Given the description of an element on the screen output the (x, y) to click on. 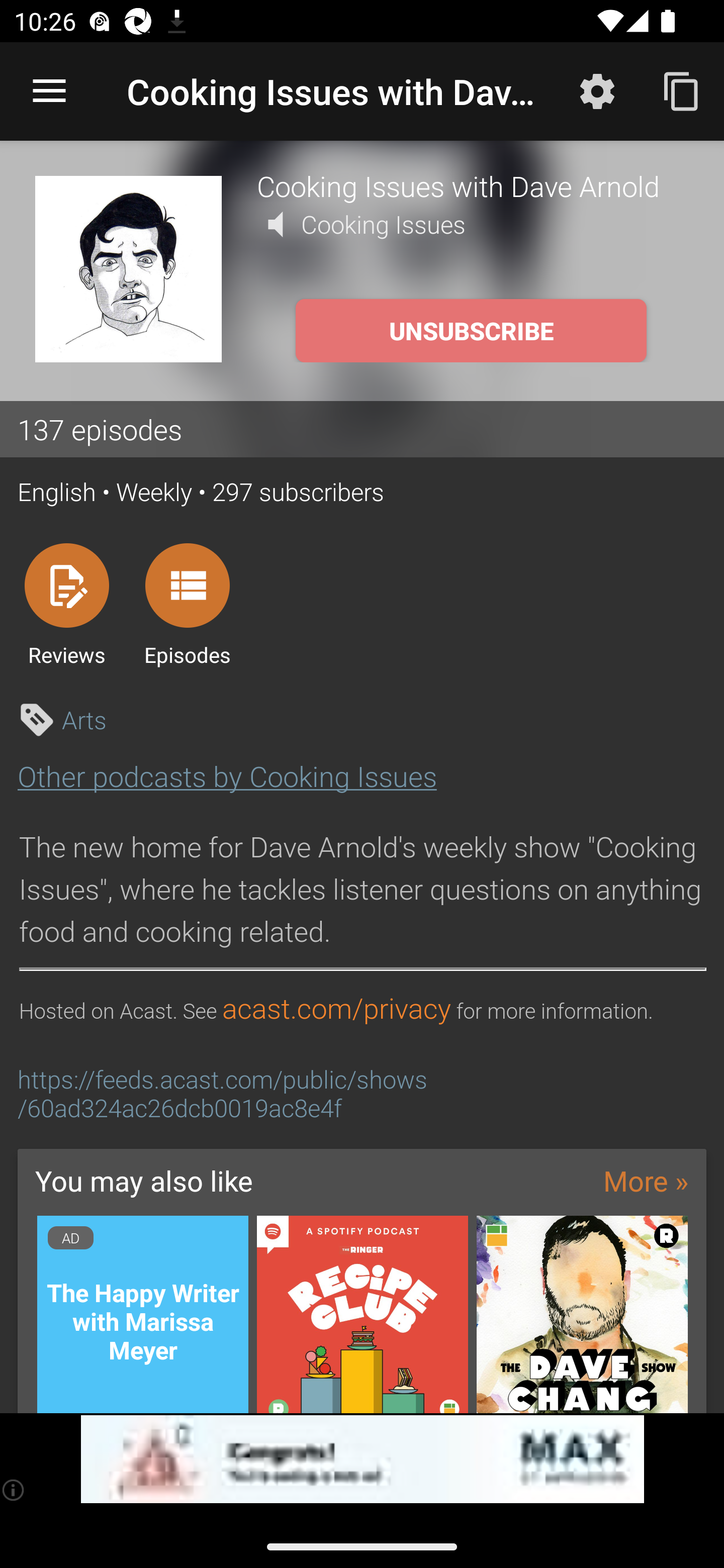
Open navigation sidebar (49, 91)
Settings (597, 90)
Copy feed url to clipboard (681, 90)
Cooking Issues with Dave Arnold (472, 185)
UNSUBSCRIBE (470, 330)
Reviews (66, 604)
Episodes (187, 604)
Other podcasts by Cooking Issues (226, 775)
acast.com/privacy (336, 1009)
More » (645, 1180)
The Happy Writer with Marissa Meyer AD (142, 1313)
app-monetization (362, 1459)
(i) (14, 1489)
